Given the description of an element on the screen output the (x, y) to click on. 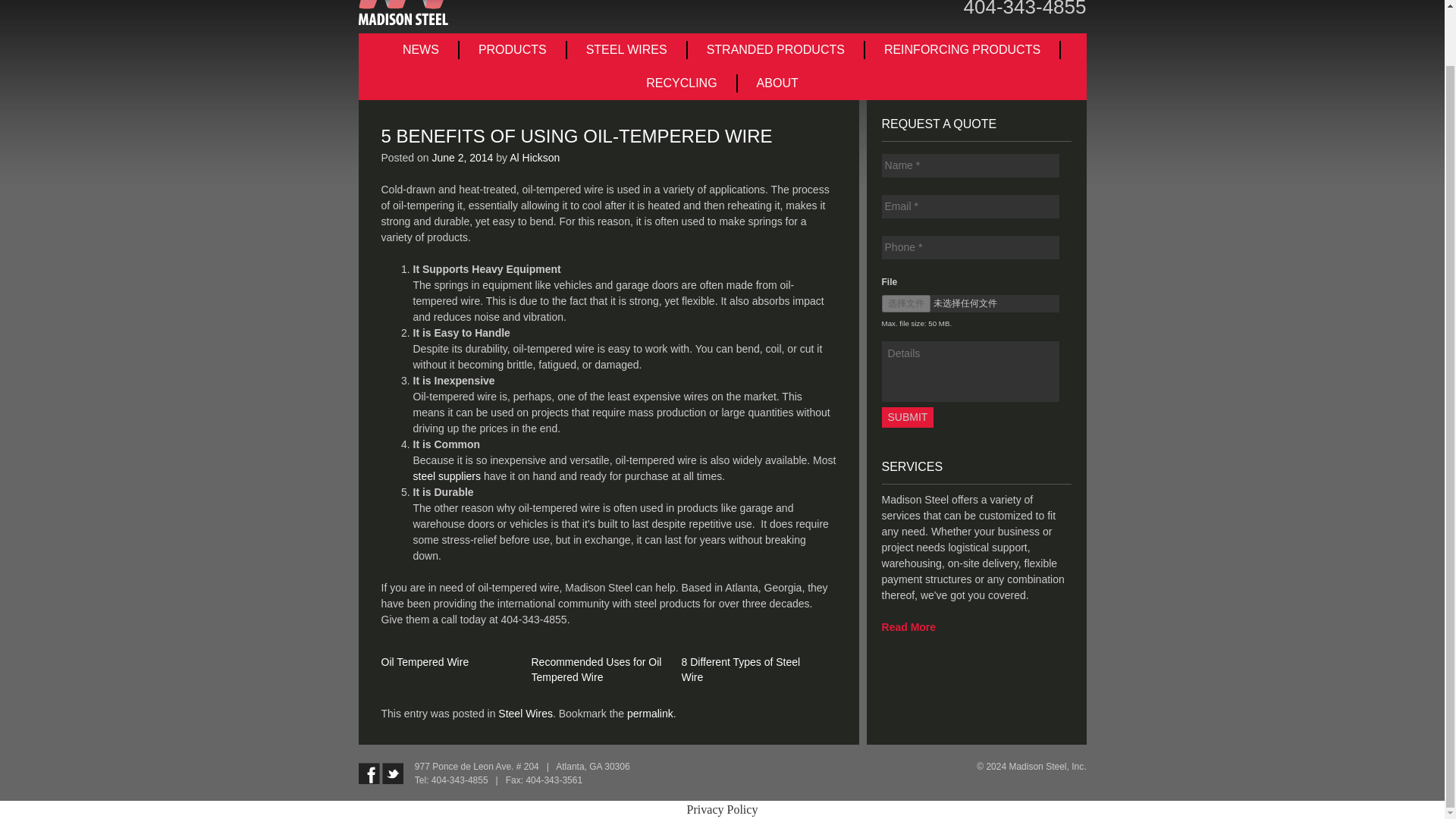
Recommended Uses for Oil Tempered Wire (596, 669)
NEWS (422, 49)
STEEL WIRES (627, 49)
Privacy Policy (722, 809)
Submit (908, 417)
Submit (908, 417)
REINFORCING PRODUCTS (962, 49)
Al Hickson (534, 157)
Recommended Uses for Oil Tempered Wire (596, 669)
8 Different Types of Steel Wire (740, 669)
